Given the description of an element on the screen output the (x, y) to click on. 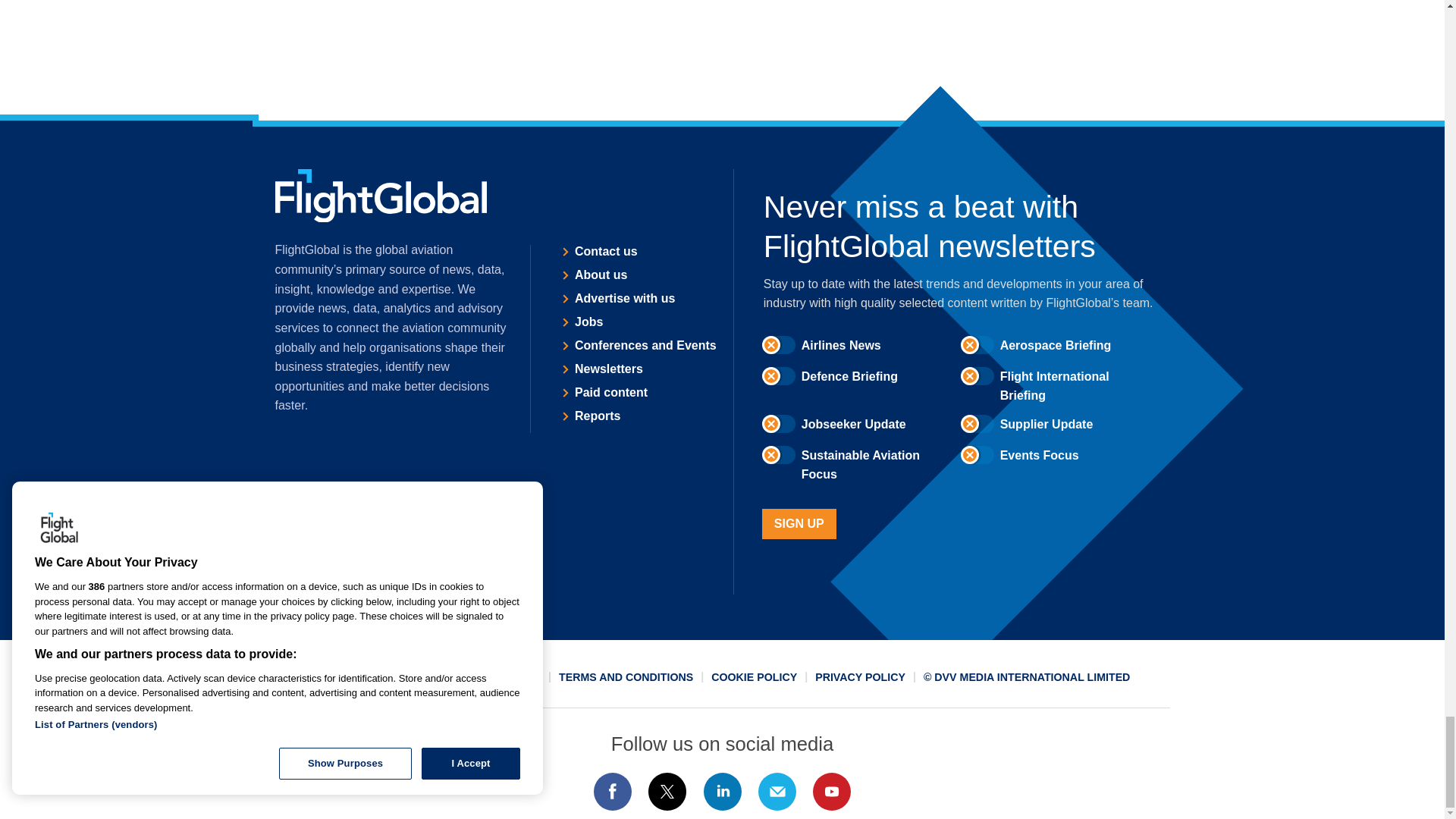
Connect with us on Youtube (831, 791)
Connect with us on Twitter (667, 791)
Email us (776, 791)
Connect with us on Linked In (721, 791)
Connect with us on Facebook (611, 791)
